Given the description of an element on the screen output the (x, y) to click on. 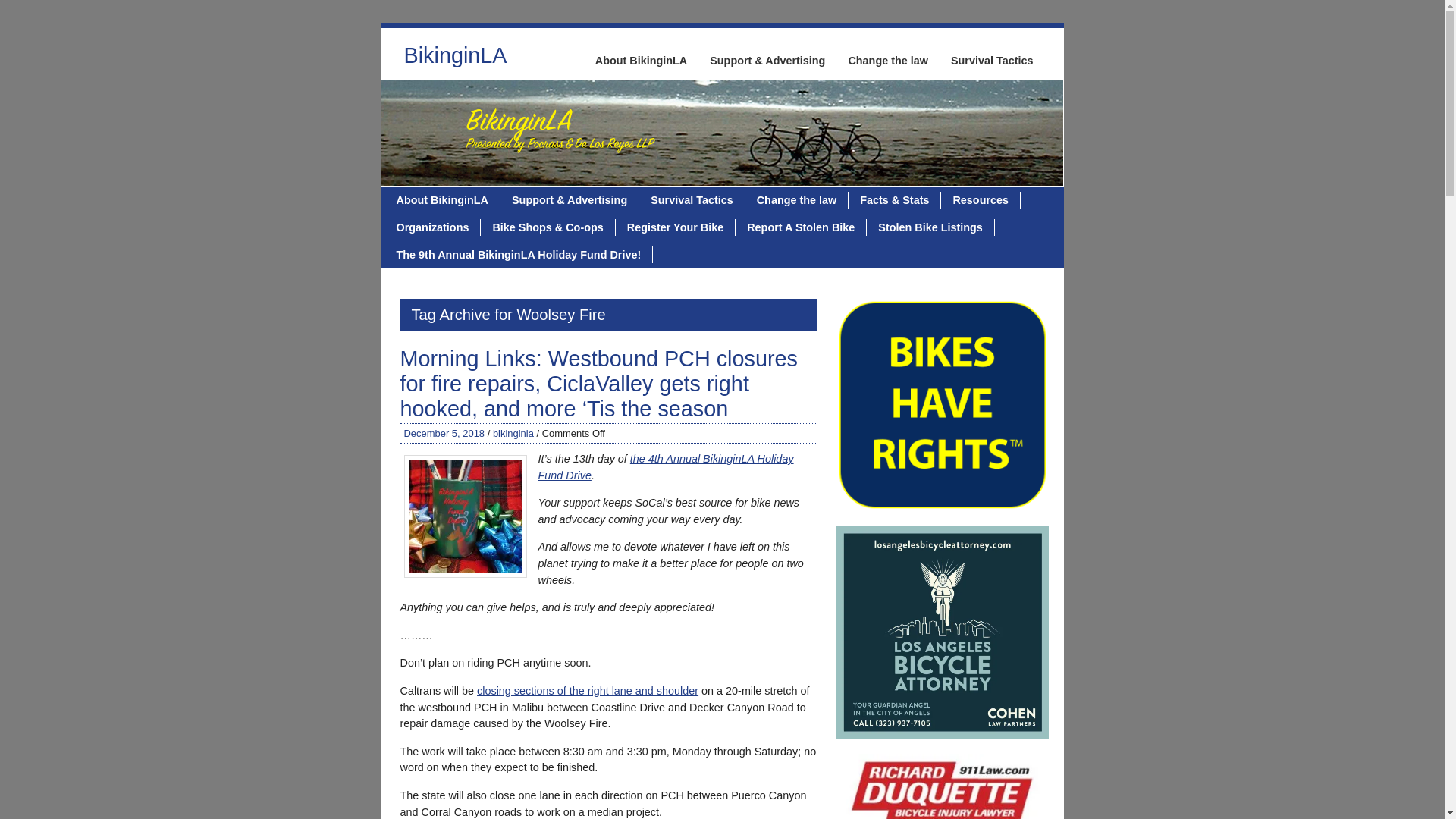
closing sections of the right lane and shoulder (587, 690)
Change the law (796, 199)
Register Your Bike (675, 227)
Posts by bikinginla (513, 432)
BikinginLA (454, 59)
Stolen Bike Listings (930, 227)
Survival Tactics (692, 199)
bikinginla (513, 432)
About BikinginLA (442, 199)
Report A Stolen Bike (800, 227)
the 4th Annual BikinginLA Holiday Fund Drive (665, 466)
The 9th Annual BikinginLA Holiday Fund Drive! (519, 254)
December 5, 2018 (443, 432)
About BikinginLA (640, 60)
Change the law (887, 60)
